Given the description of an element on the screen output the (x, y) to click on. 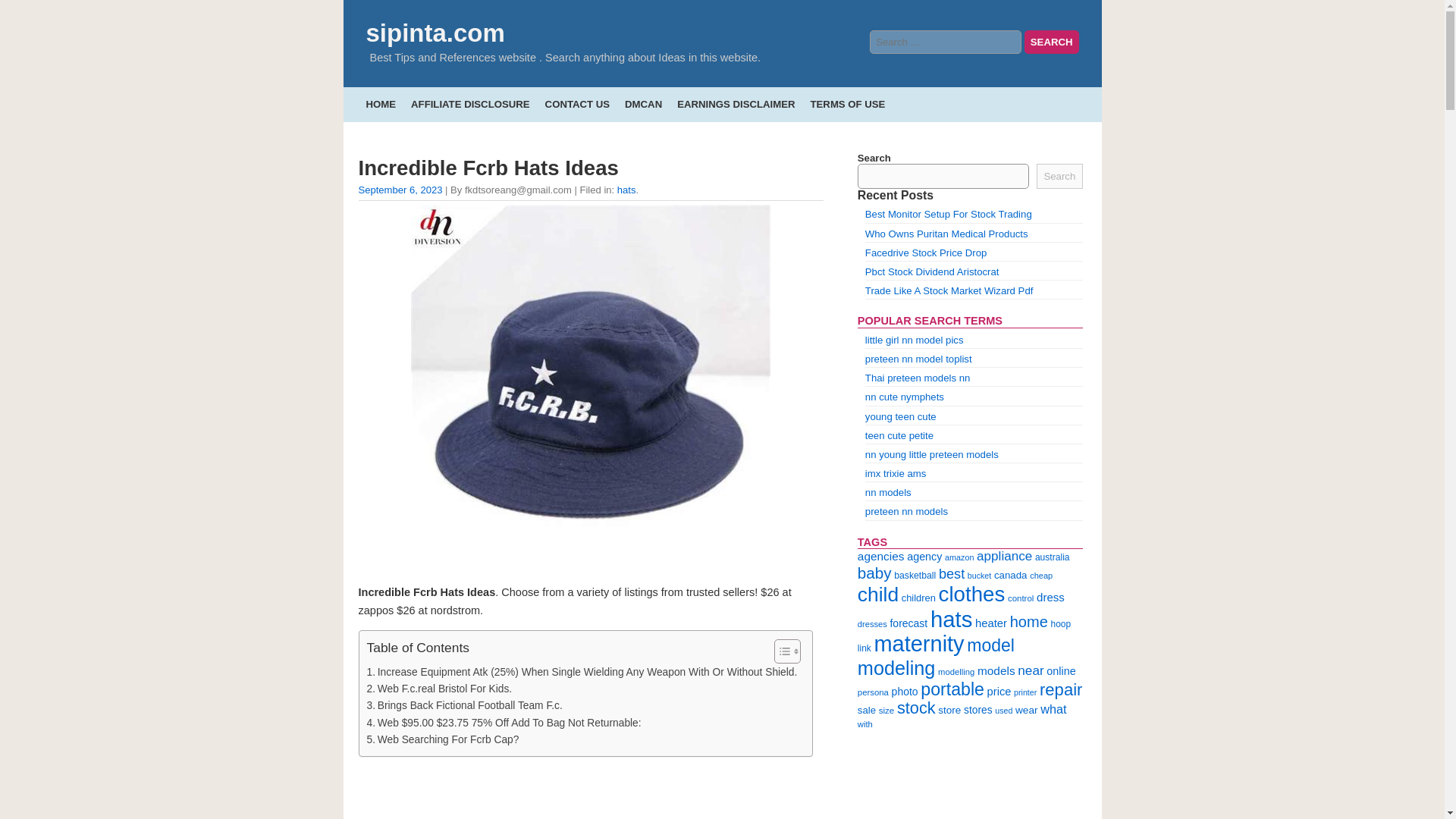
Brings Back Fictional Football Team F.c. (464, 705)
nn young little preteen models (931, 454)
sipinta.com (434, 32)
agencies (880, 555)
nn cute nymphets (903, 396)
Search (1051, 42)
EARNINGS DISCLAIMER (735, 103)
Thai preteen models nn (917, 378)
Incredible Fcrb Hats Ideas 2 (590, 793)
preteen nn model toplist (918, 358)
Web F.c.real Bristol For Kids. (439, 688)
Web Searching For Fcrb Cap? (442, 740)
TERMS OF USE (847, 103)
imx trixie ams (895, 473)
